Given the description of an element on the screen output the (x, y) to click on. 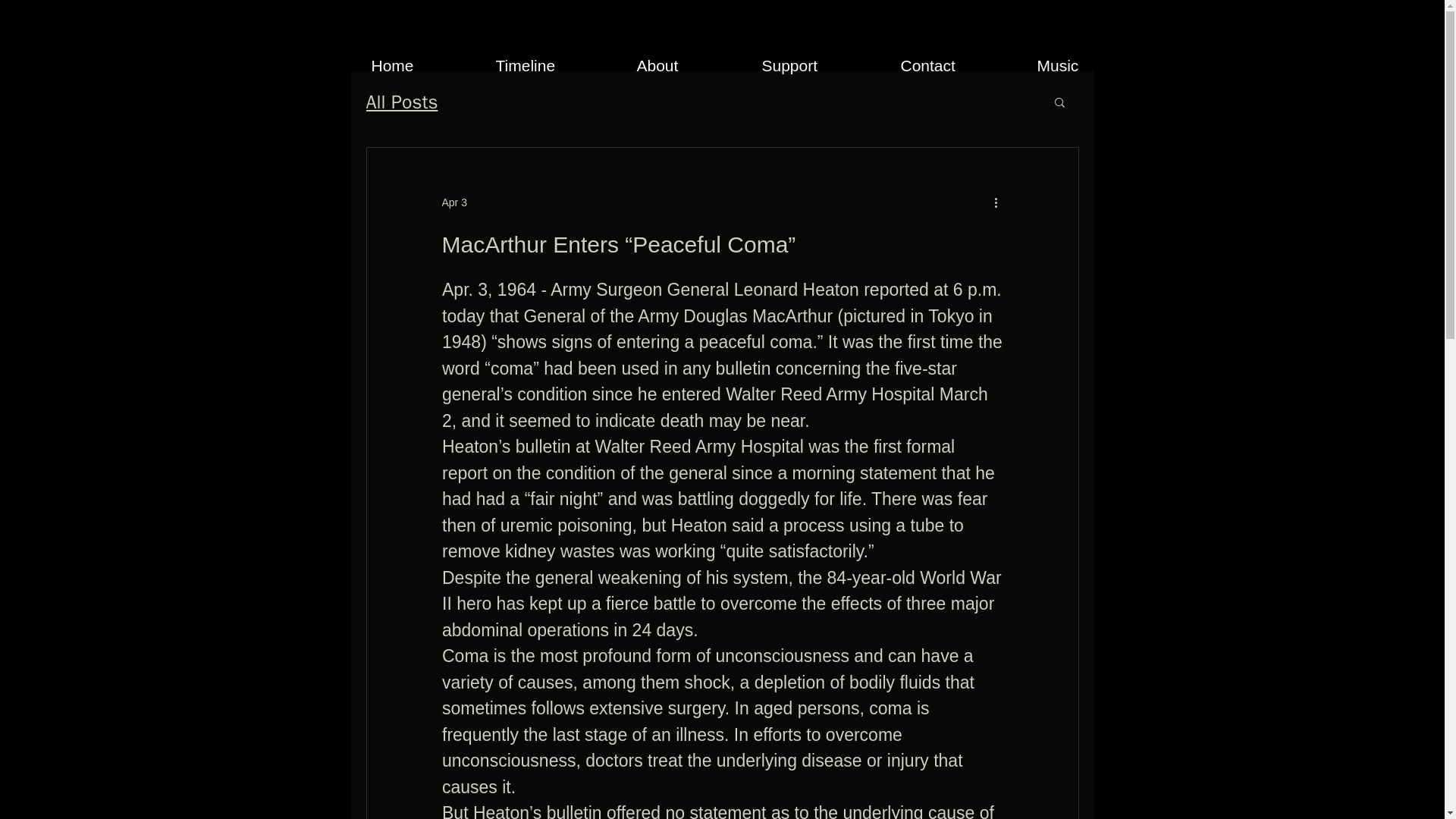
All Posts (401, 101)
Music (1085, 65)
Apr 3 (453, 201)
Contact (956, 65)
Home (421, 65)
Support (820, 65)
About (686, 65)
Timeline (553, 65)
